Given the description of an element on the screen output the (x, y) to click on. 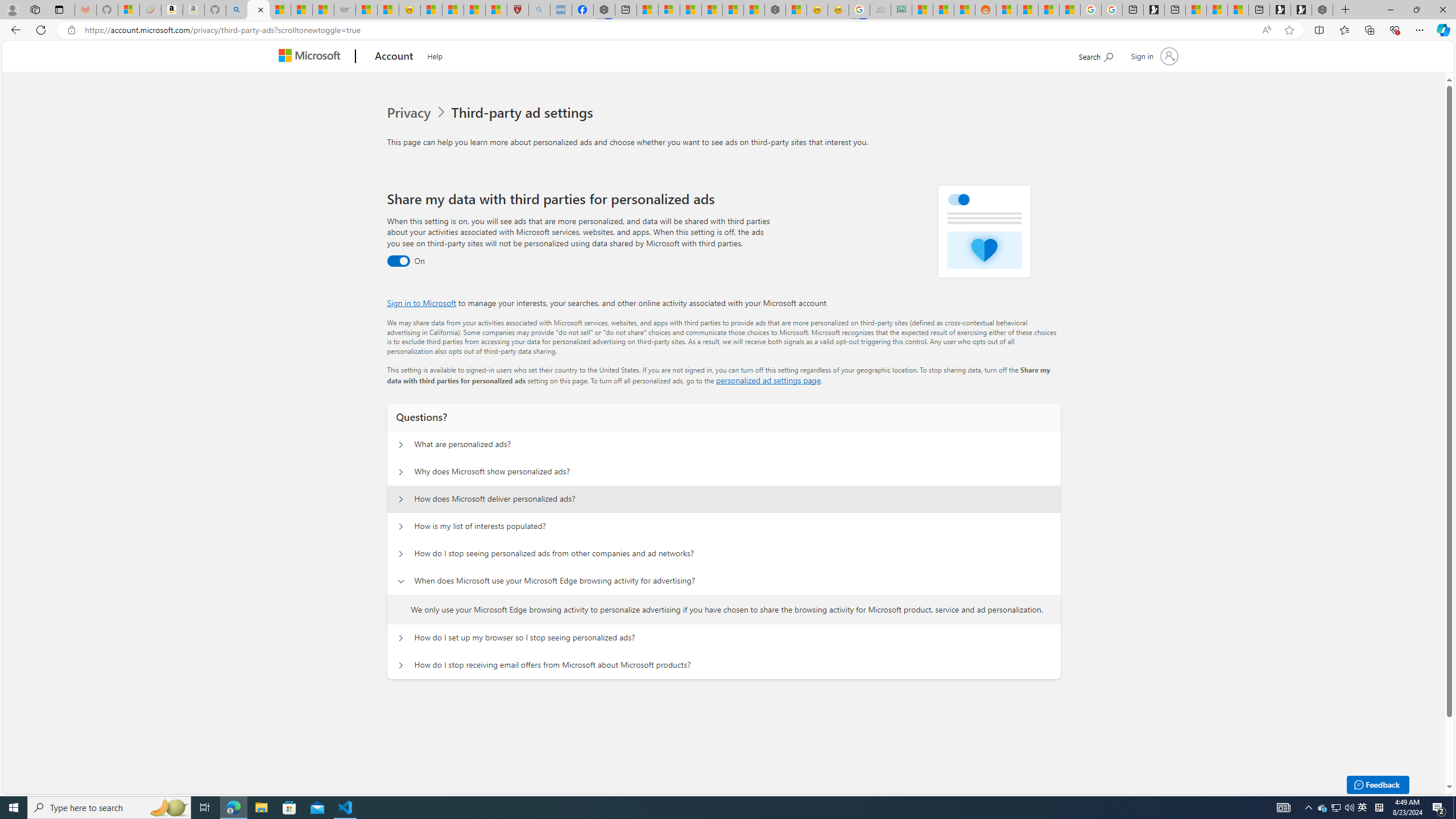
Questions? What are personalized ads? (401, 444)
Sign in to Microsoft (422, 302)
